Given the description of an element on the screen output the (x, y) to click on. 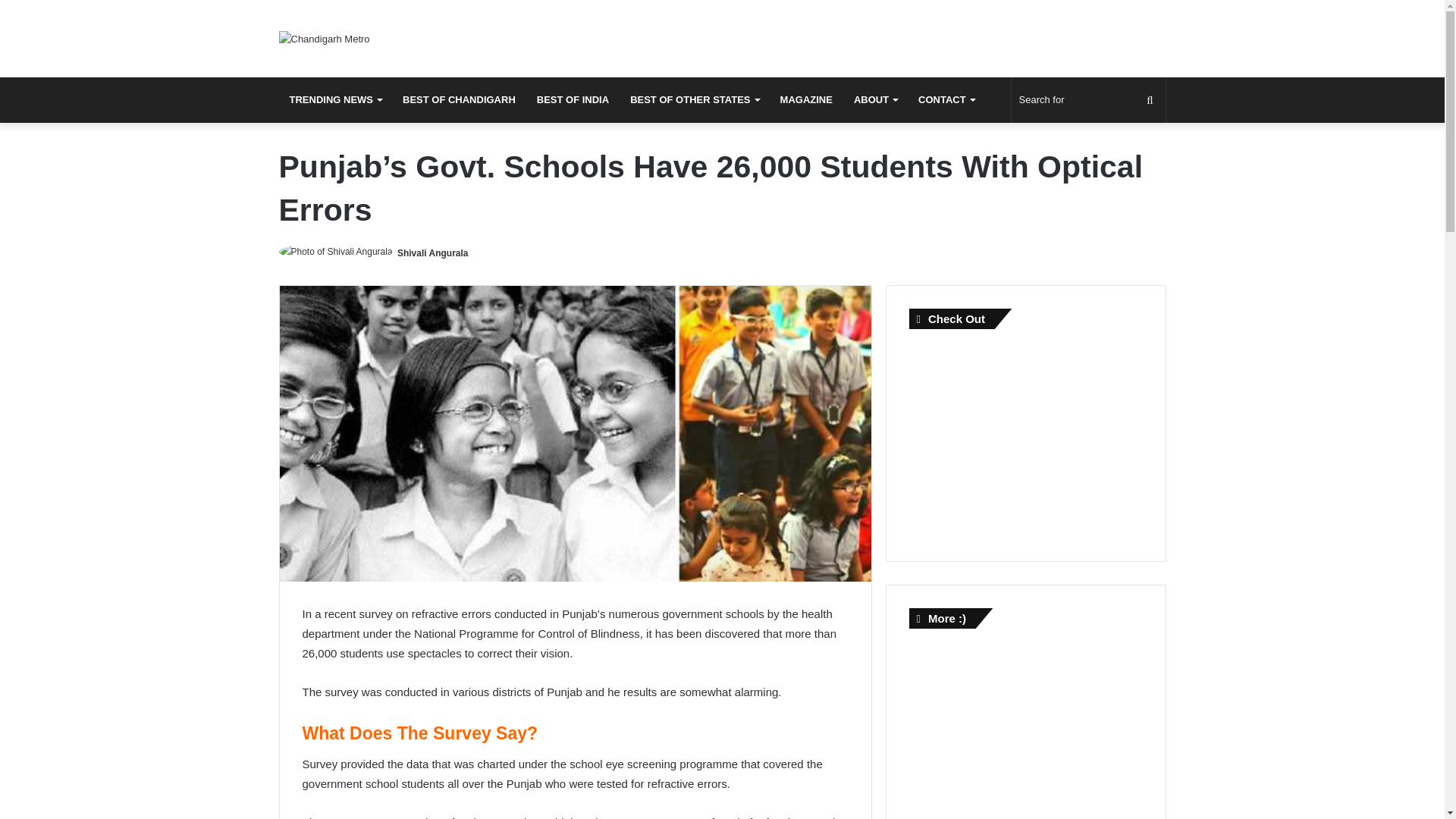
BEST OF OTHER STATES (694, 99)
BEST OF INDIA (572, 99)
Shivali Angurala (432, 253)
Shivali Angurala (432, 253)
TRENDING NEWS (336, 99)
Chandigarh Metro (324, 38)
ABOUT (875, 99)
MAGAZINE (806, 99)
Search for (1088, 99)
BEST OF CHANDIGARH (458, 99)
